Given the description of an element on the screen output the (x, y) to click on. 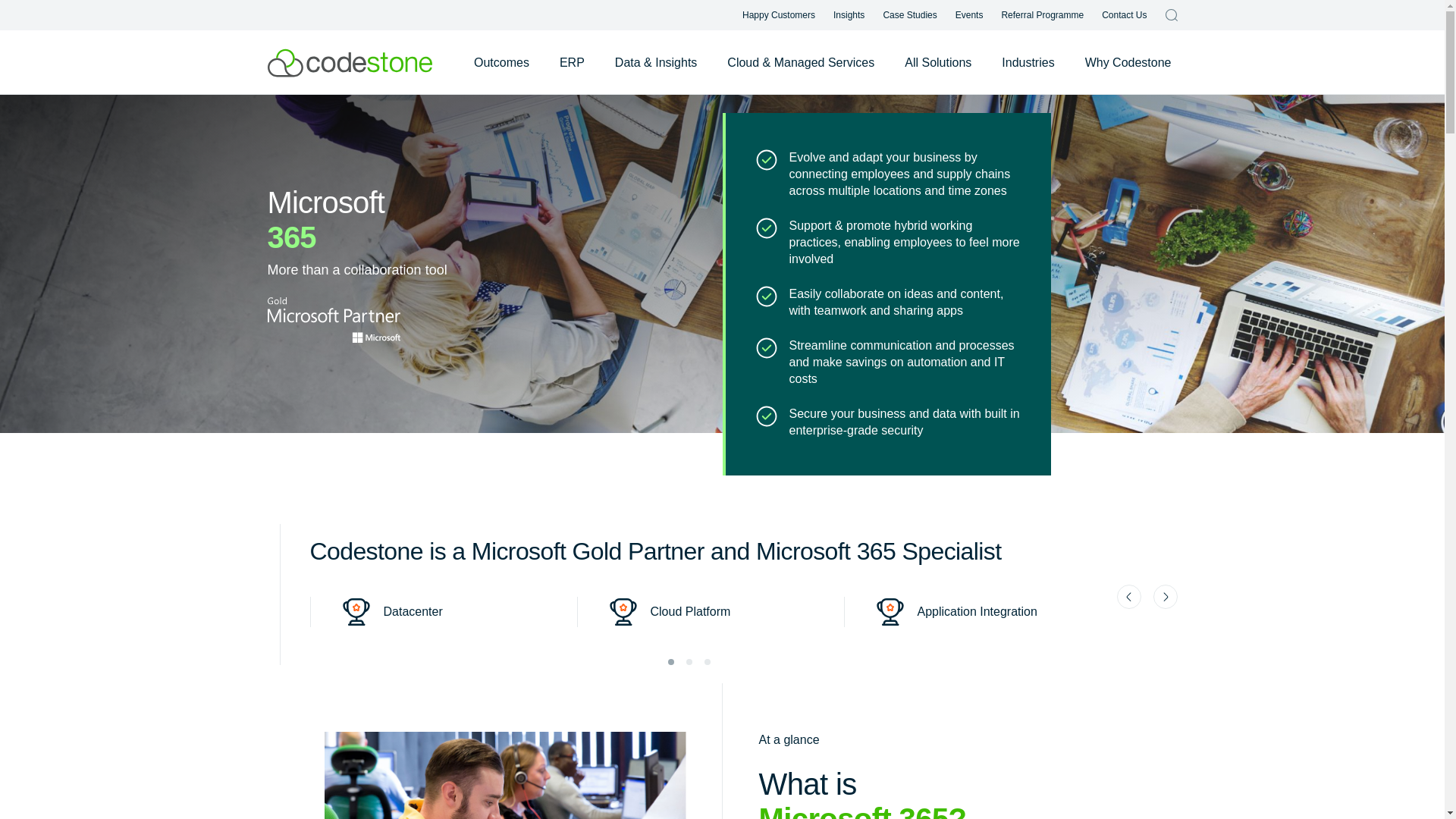
Contact Us (1124, 14)
Events (969, 14)
Referral Programme (1042, 14)
Insights (848, 14)
Happy Customers (778, 14)
Outcomes (501, 62)
Case Studies (909, 14)
